Given the description of an element on the screen output the (x, y) to click on. 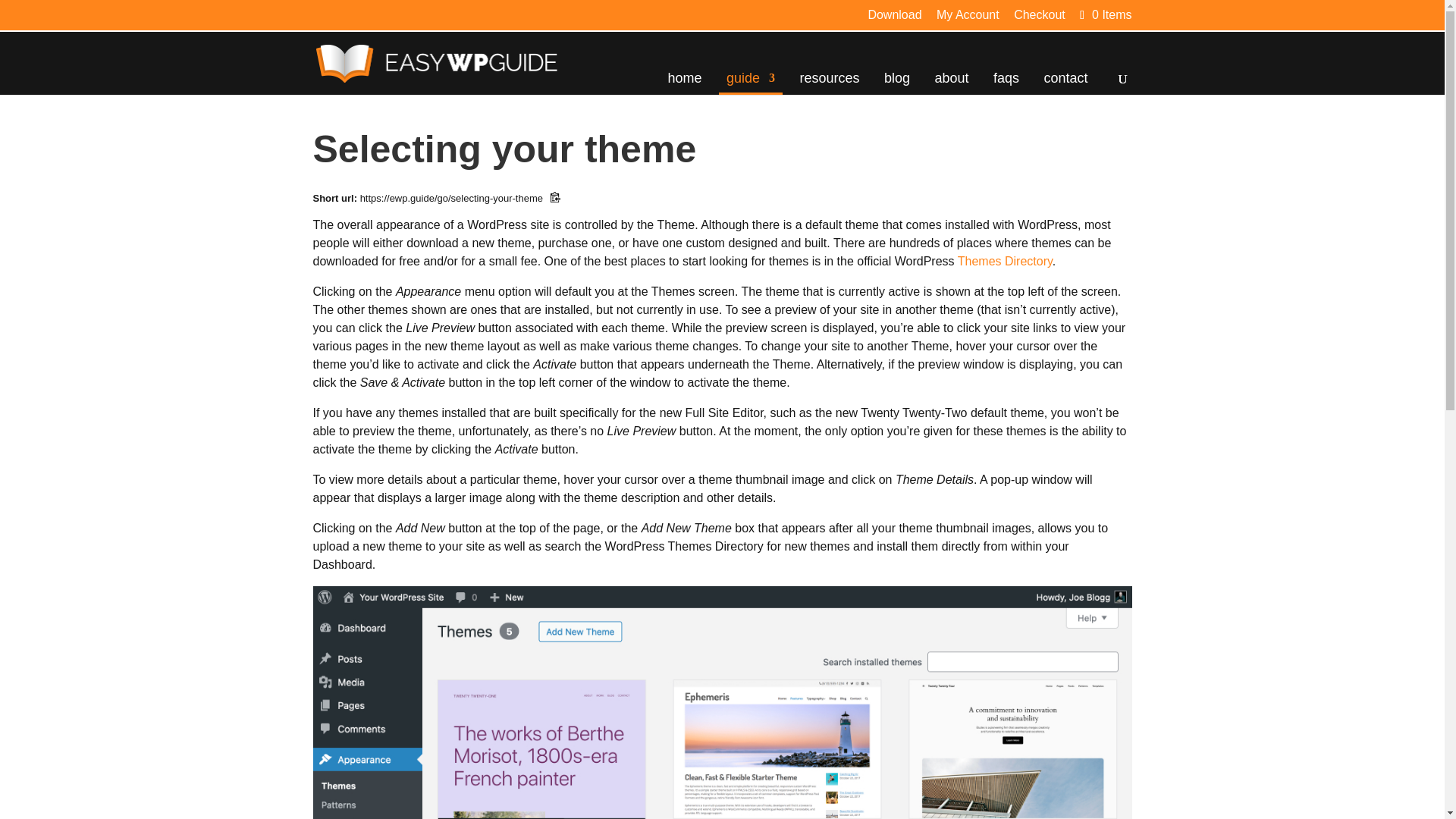
contact (1065, 81)
about (951, 81)
View the WordPress Themes Directory (1005, 260)
0 Items (1104, 14)
blog (896, 81)
My Account (967, 19)
home (684, 81)
blog (896, 81)
contact (1065, 81)
faqs (1005, 81)
